Given the description of an element on the screen output the (x, y) to click on. 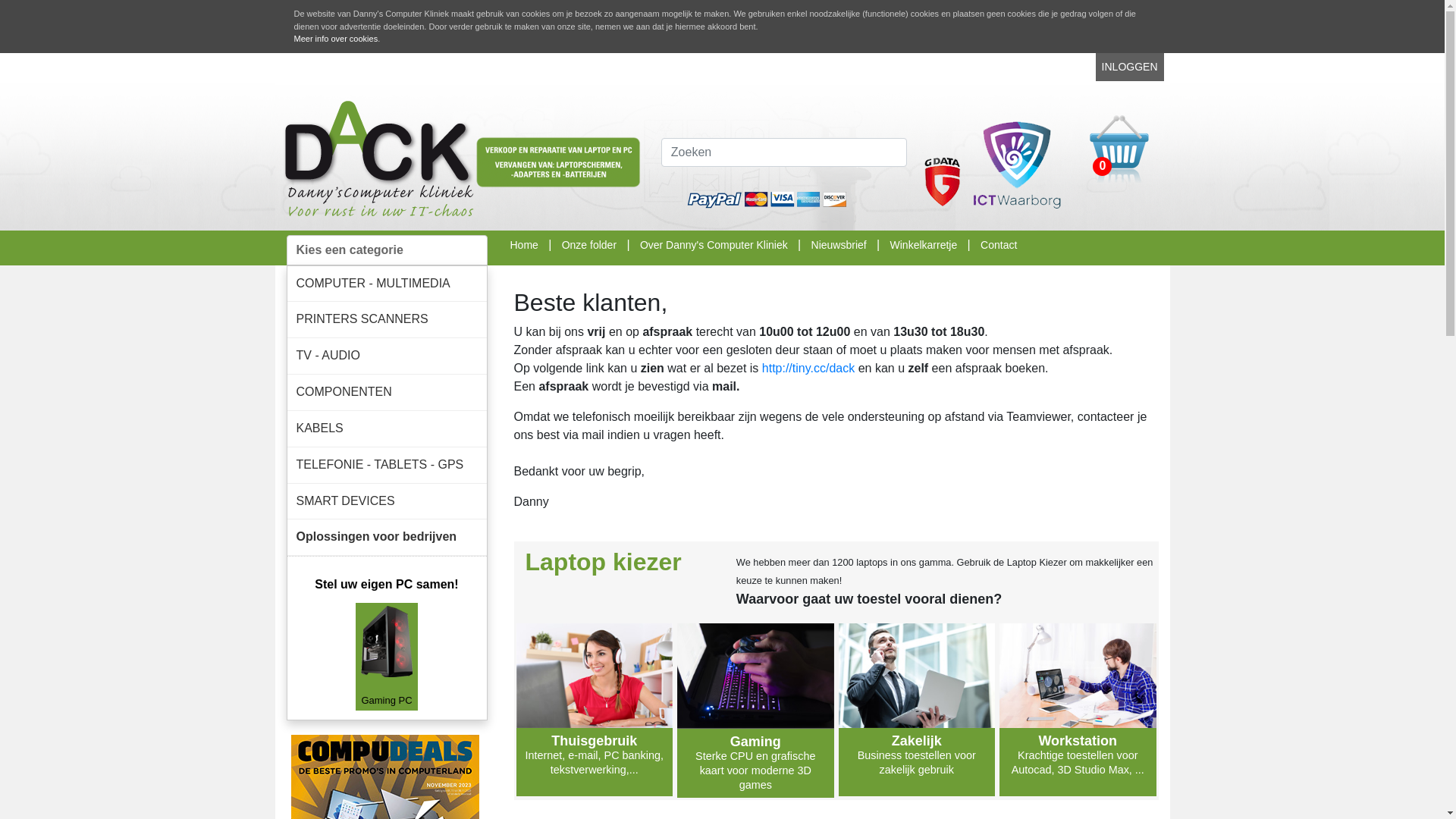
Onze folder Element type: text (588, 244)
Home Element type: text (523, 244)
Nieuwsbrief Element type: text (838, 244)
SMART DEVICES Element type: text (386, 501)
COMPUTER - MULTIMEDIA Element type: text (386, 283)
Meer info over cookies Element type: text (336, 38)
KABELS Element type: text (386, 428)
Gaming
Sterke CPU en grafische kaart voor moderne 3D games Element type: text (755, 710)
Winkelkarretje Element type: text (923, 244)
Kies een categorie Element type: text (386, 250)
http://tiny.cc/dack Element type: text (808, 367)
COMPONENTEN Element type: text (386, 392)
TV - AUDIO Element type: text (386, 355)
PRINTERS SCANNERS Element type: text (386, 319)
Zakelijk
Business toestellen voor zakelijk gebruik Element type: text (916, 709)
Over Danny's Computer Kliniek Element type: text (713, 244)
TELEFONIE - TABLETS - GPS Element type: text (386, 465)
Gaming PC Element type: text (386, 655)
Contact Element type: text (998, 244)
Oplossingen voor bedrijven Element type: text (386, 537)
